Given the description of an element on the screen output the (x, y) to click on. 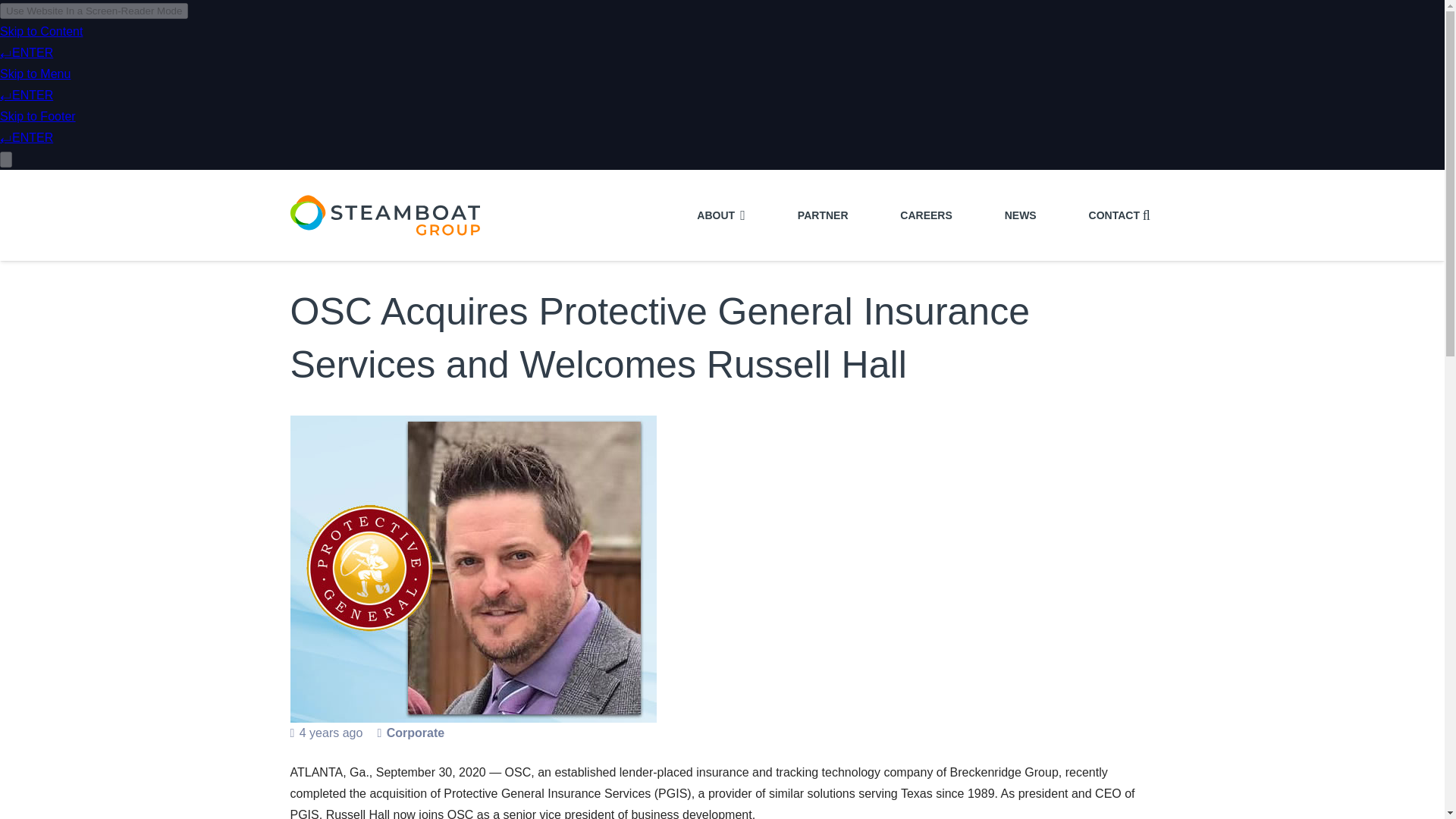
PARTNER (822, 215)
ABOUT (721, 215)
NEWS (1020, 215)
Corporate (415, 732)
CONTACT (1114, 215)
CAREERS (925, 215)
